Given the description of an element on the screen output the (x, y) to click on. 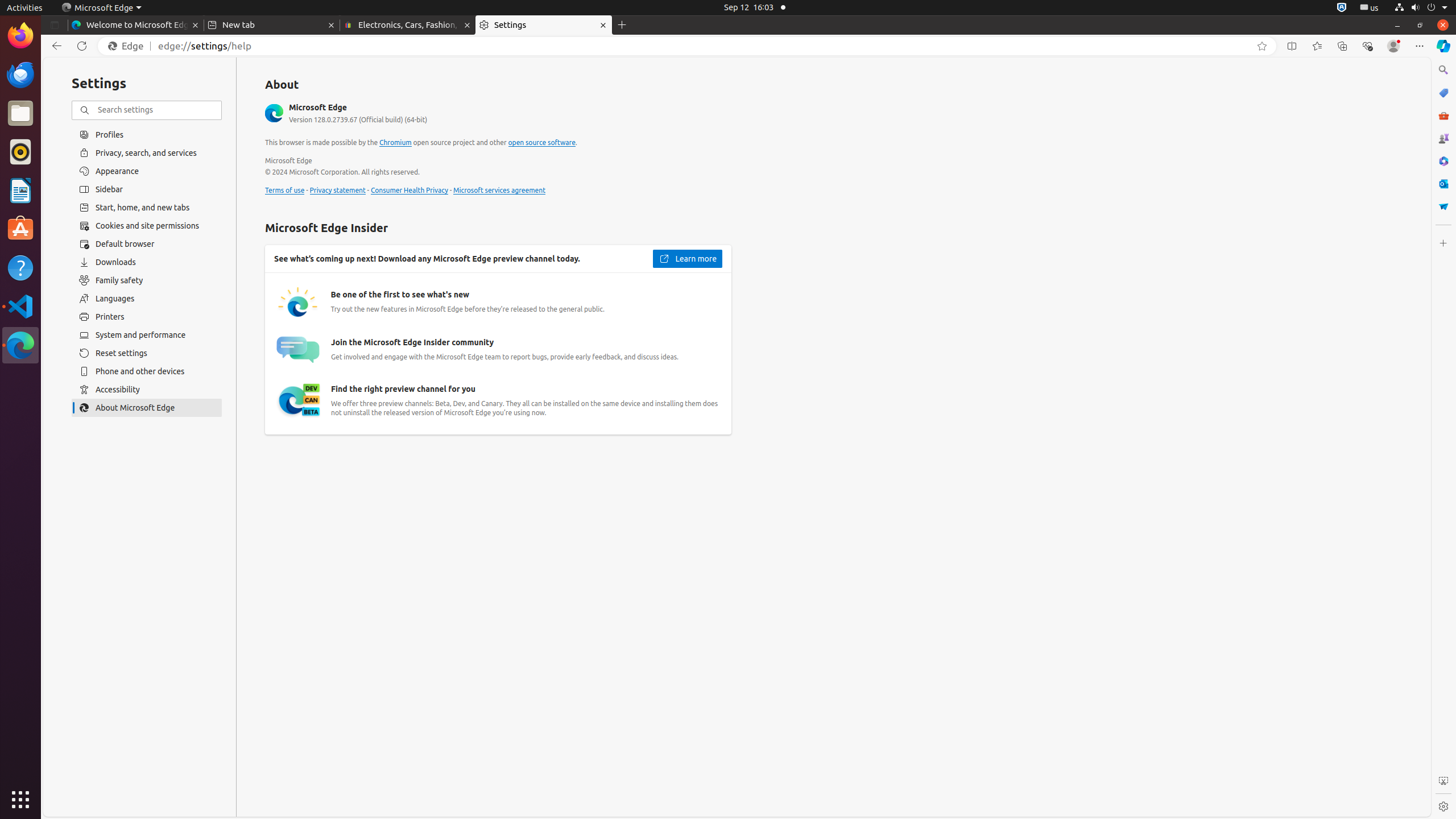
Microsoft Shopping Element type: push-button (1443, 92)
Learn more about Microsoft Edge insider channels Element type: link (687, 258)
Profiles Element type: tree-item (146, 134)
About Microsoft Edge Element type: tree-item (146, 407)
New Tab Element type: push-button (622, 25)
